Given the description of an element on the screen output the (x, y) to click on. 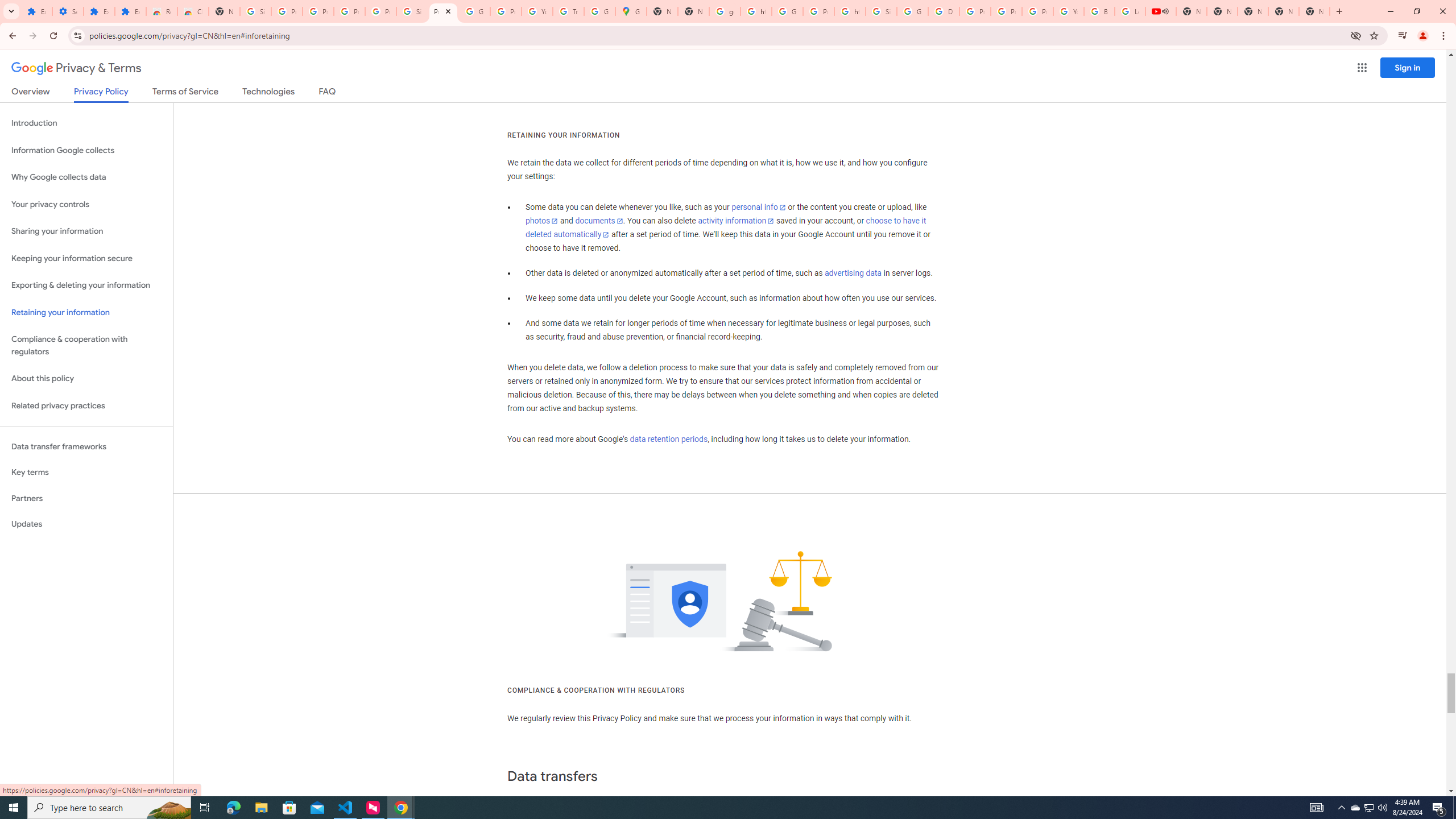
FAQ (327, 93)
https://scholar.google.com/ (756, 11)
Google Maps (631, 11)
documents (599, 221)
data retention periods (667, 439)
Technologies (268, 93)
Privacy Help Center - Policies Help (974, 11)
New Tab (223, 11)
